Given the description of an element on the screen output the (x, y) to click on. 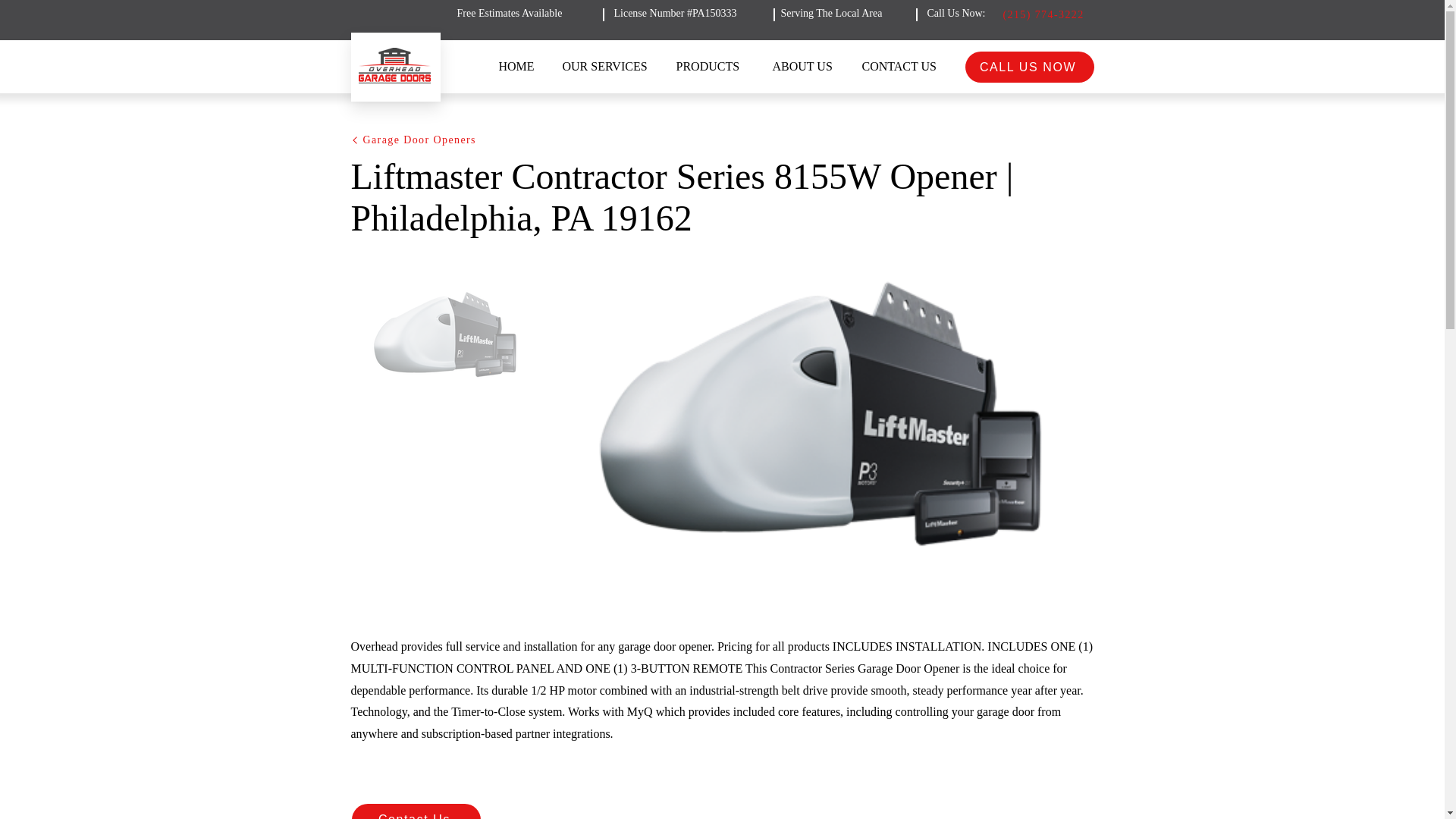
Contact Us (416, 811)
CONTACT US (904, 66)
Garage Door Openers (431, 140)
CALL US NOW (1028, 66)
ABOUT US (805, 66)
HOME (518, 66)
OUR SERVICES (606, 66)
